Given the description of an element on the screen output the (x, y) to click on. 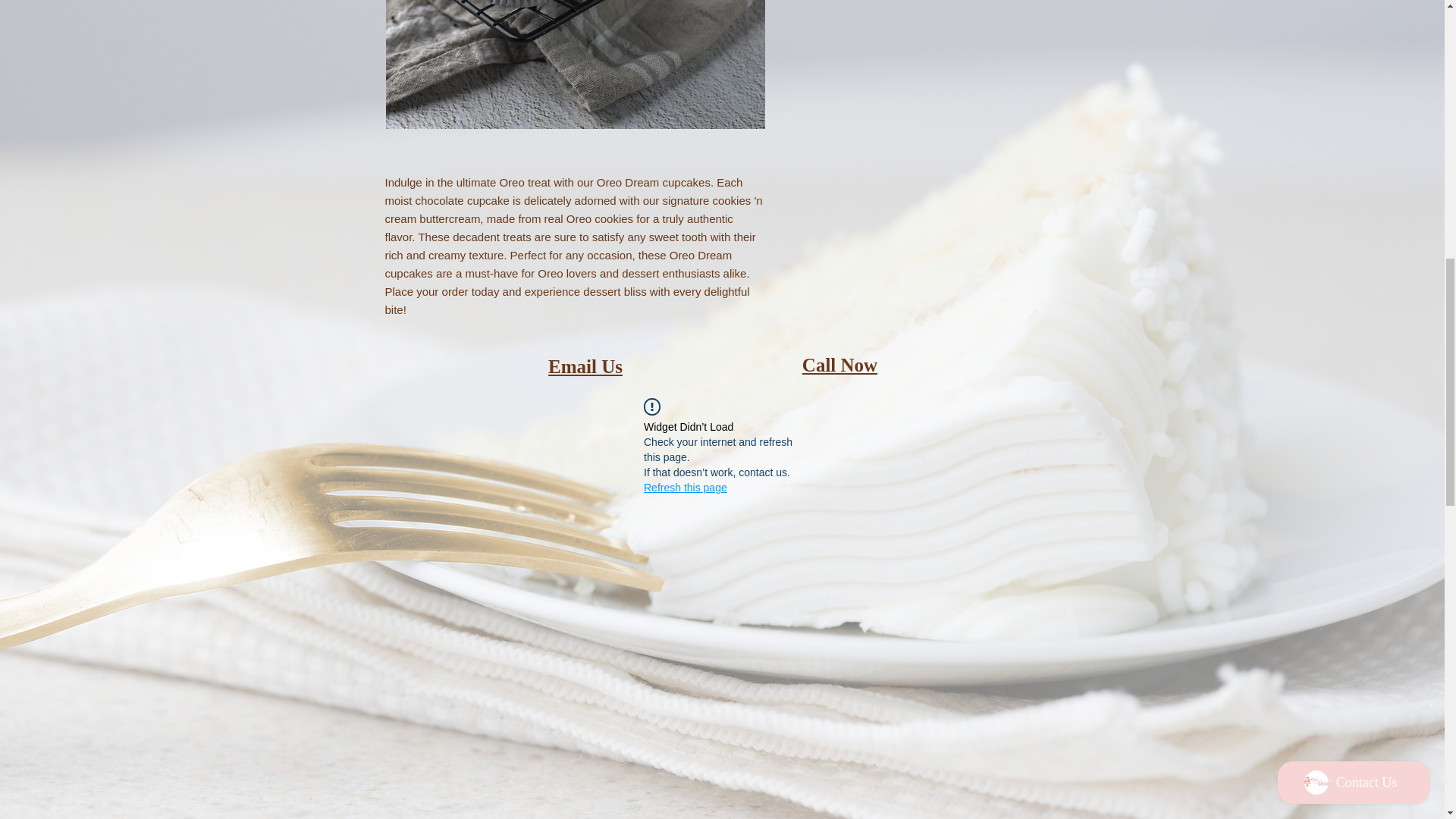
Refresh this page (684, 487)
Call Now (839, 364)
Email Us (585, 365)
